Given the description of an element on the screen output the (x, y) to click on. 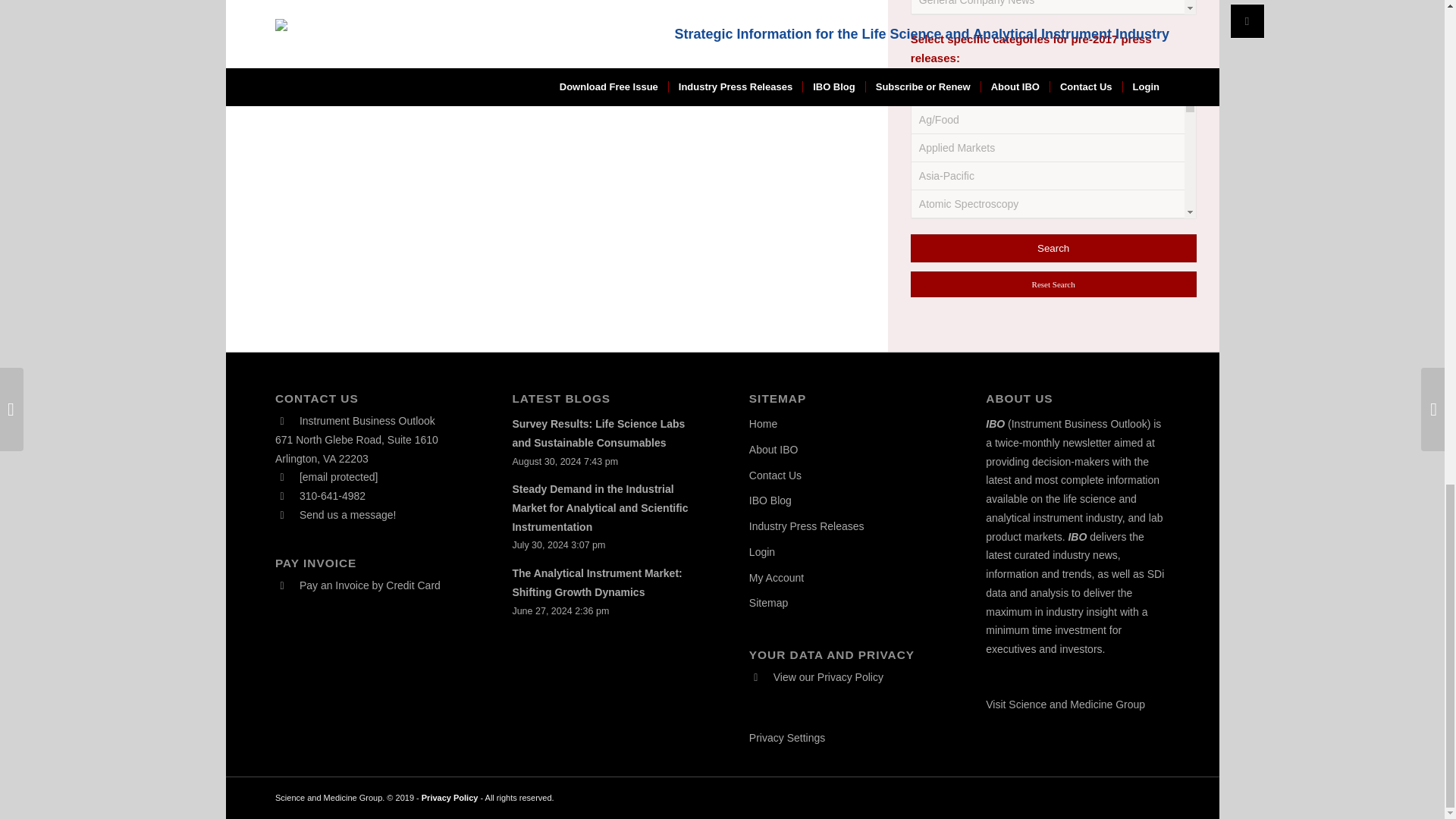
general-laboratory-productsconsumableslife-sciencegene-based (929, 331)
chromatography-and-mass-spectrometryroutine-ms (929, 38)
The Analytical Instrument Market: Shifting Growth Dynamics (596, 582)
